Given the description of an element on the screen output the (x, y) to click on. 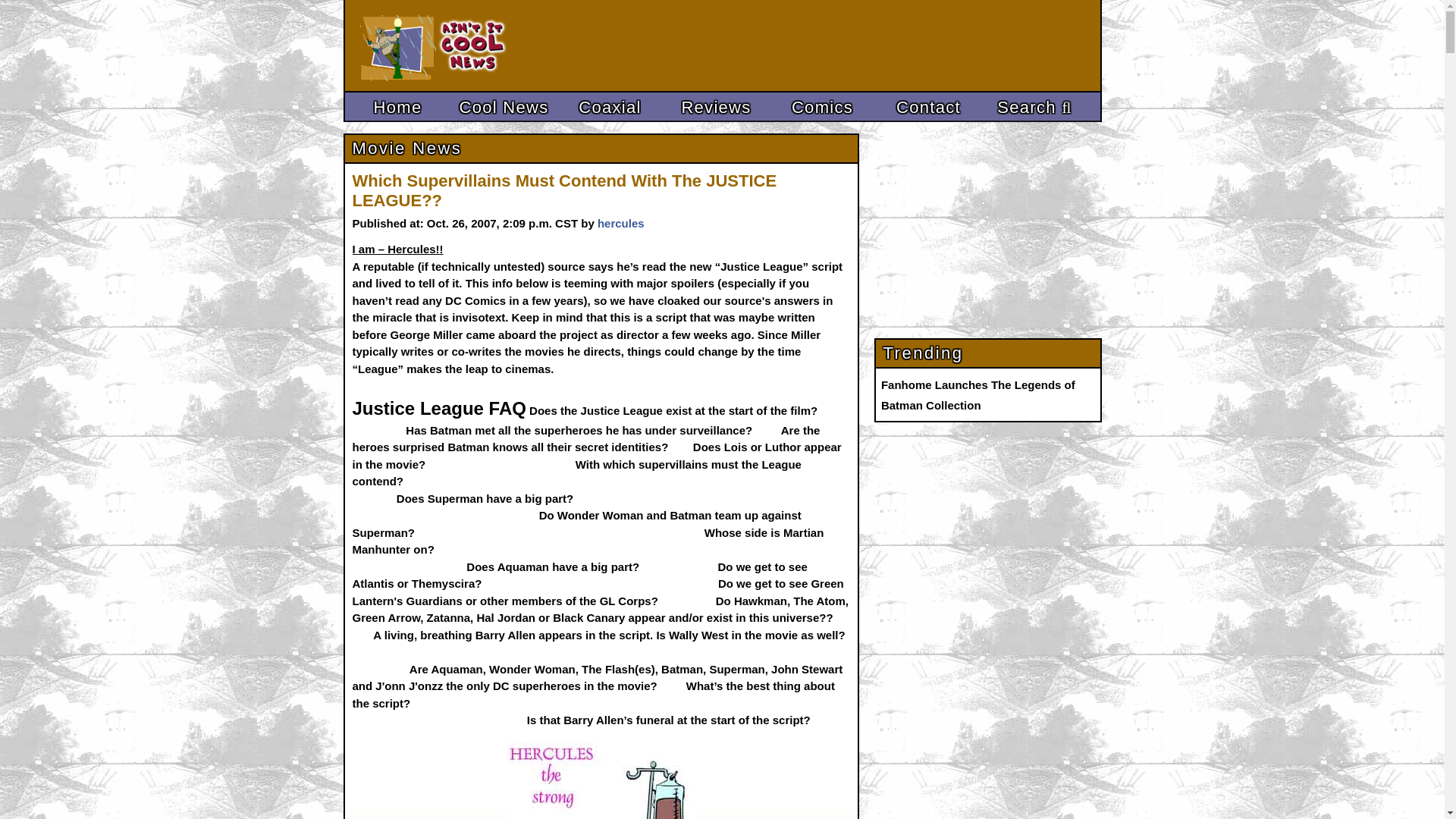
Comics (821, 107)
Coaxial (609, 107)
3rd party ad content (811, 45)
Cool News (502, 107)
Reviews (715, 107)
Home (396, 107)
hercules (620, 223)
Search (1034, 107)
Contact (928, 107)
Ain't It Cool News (471, 45)
